Given the description of an element on the screen output the (x, y) to click on. 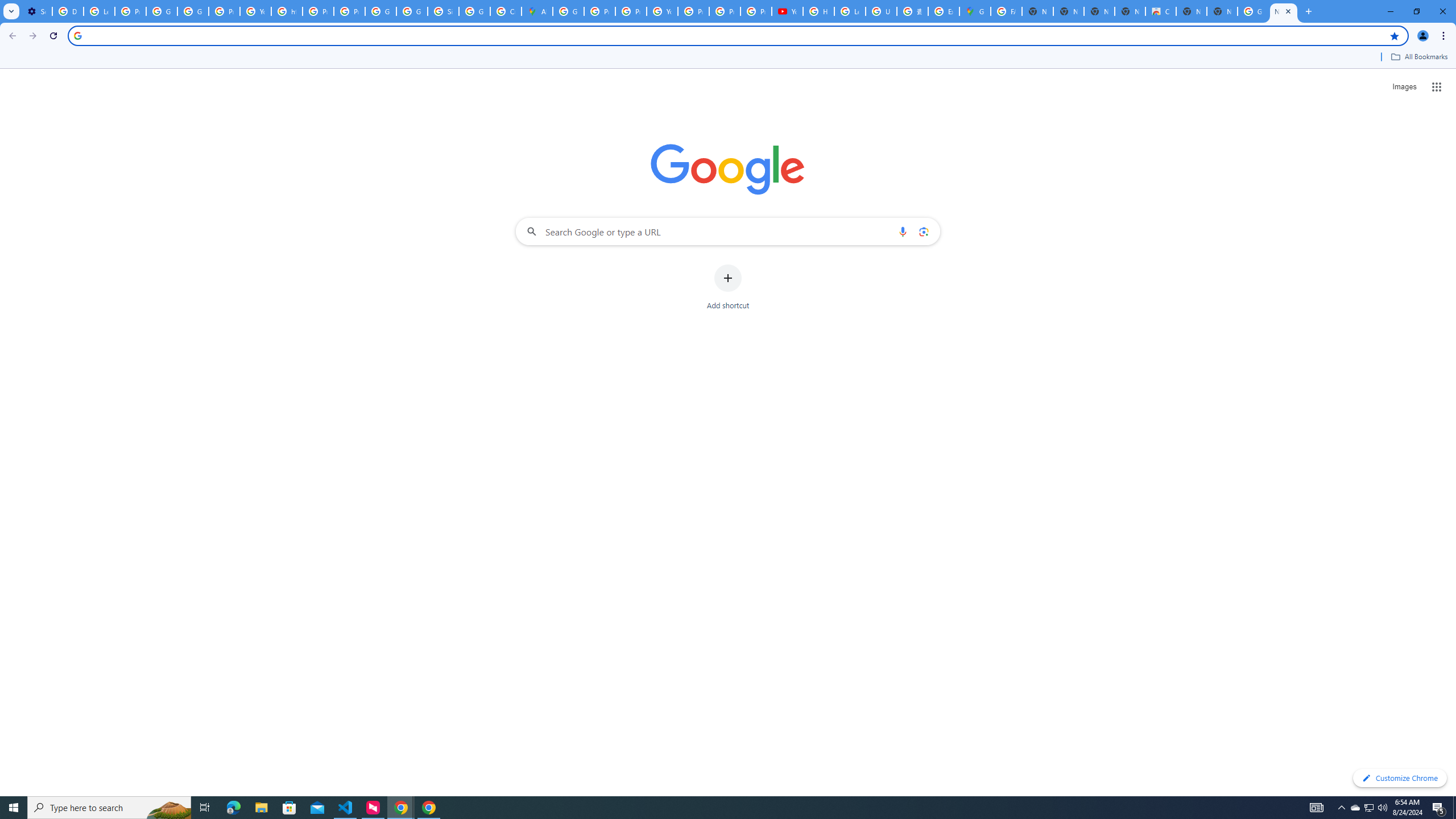
Delete photos & videos - Computer - Google Photos Help (67, 11)
Search for Images  (1403, 87)
Bookmarks (728, 58)
Privacy Help Center - Policies Help (599, 11)
Learn how to find your photos - Google Photos Help (98, 11)
Privacy Help Center - Policies Help (318, 11)
Chrome Web Store (1160, 11)
